Given the description of an element on the screen output the (x, y) to click on. 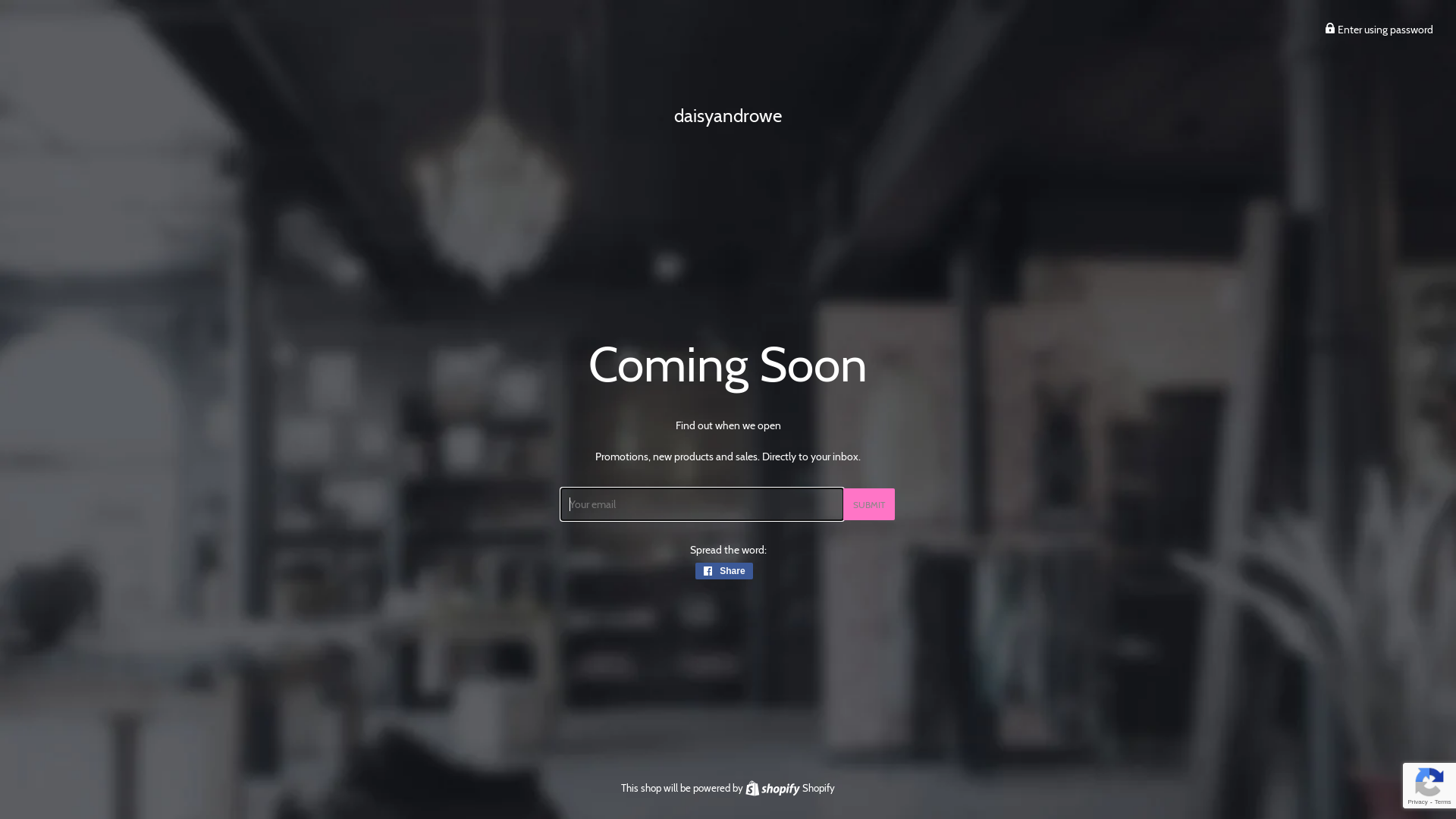
Lock icon Enter using password Element type: text (1378, 29)
Share
Share on Facebook Element type: text (723, 570)
Submit Element type: text (868, 504)
Shopify logo Shopify Element type: text (789, 787)
